Given the description of an element on the screen output the (x, y) to click on. 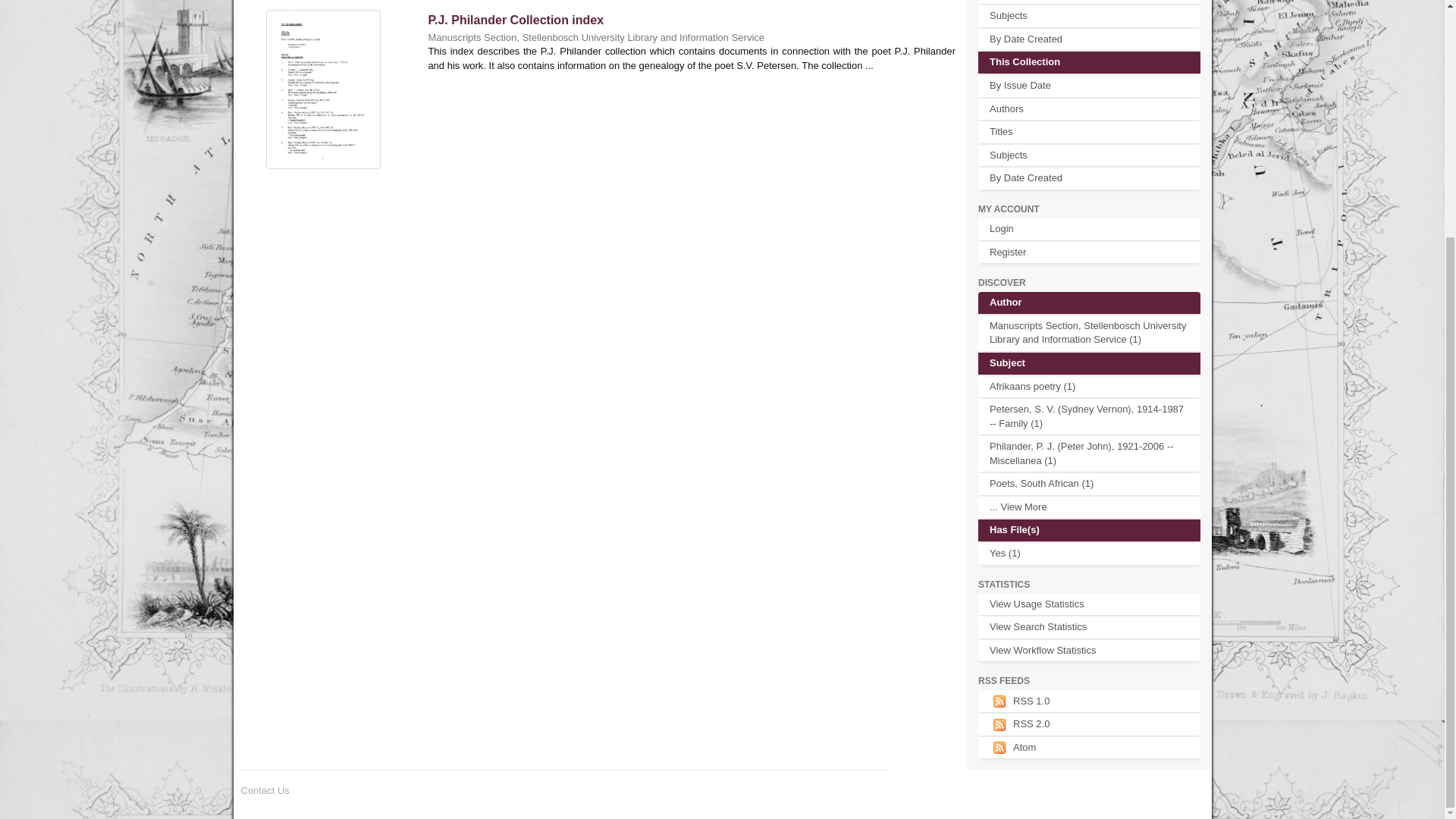
Titles (1088, 132)
By Issue Date (1088, 86)
Subjects (1088, 15)
By Date Created (1088, 178)
Titles (1088, 2)
Subjects (1088, 155)
By Date Created (1088, 39)
This Collection (1088, 62)
P.J. Philander Collection index (516, 19)
Authors (1088, 108)
